Given the description of an element on the screen output the (x, y) to click on. 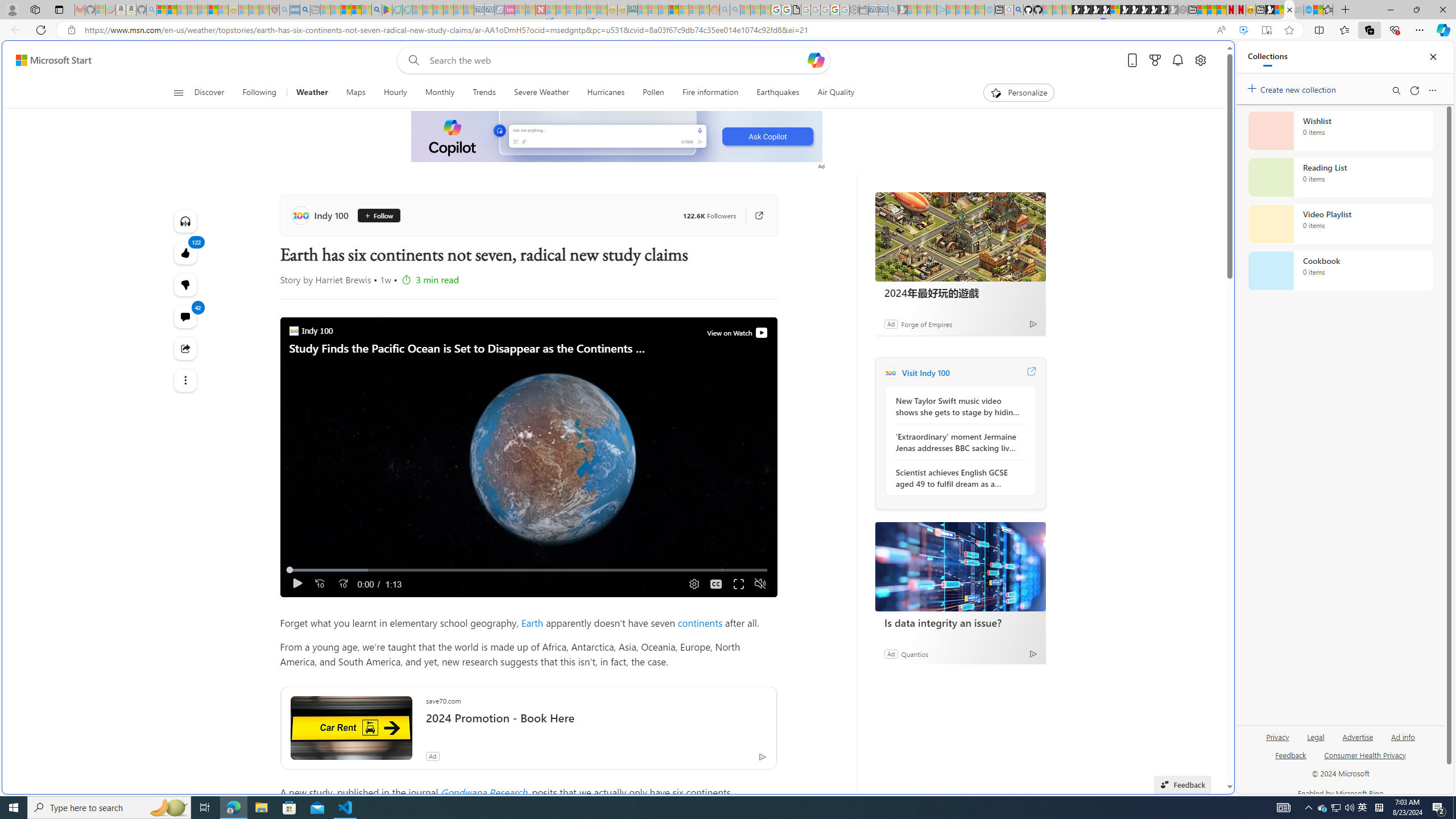
Wallet - Sleeping (863, 9)
Cookbook collection, 0 items (1339, 270)
google - Search (376, 9)
Frequently visited (965, 151)
Utah sues federal government - Search - Sleeping (735, 9)
More options menu (1432, 90)
